Given the description of an element on the screen output the (x, y) to click on. 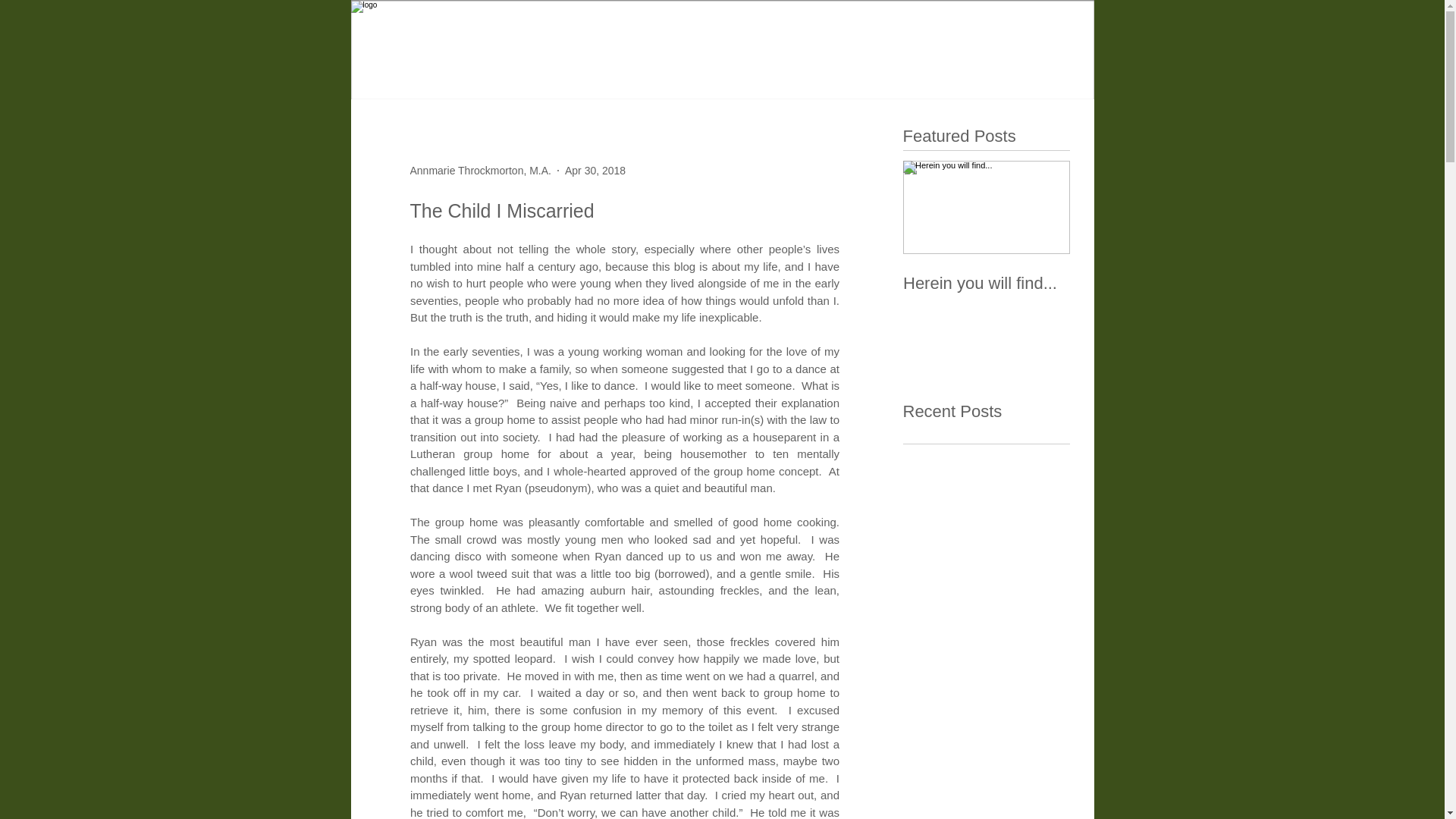
Apr 30, 2018 (595, 169)
Annmarie Throckmorton, M.A. (479, 170)
Banner-Adroit Water Bear InTheTide.jpg (737, 49)
Herein you will find... (985, 283)
